Given the description of an element on the screen output the (x, y) to click on. 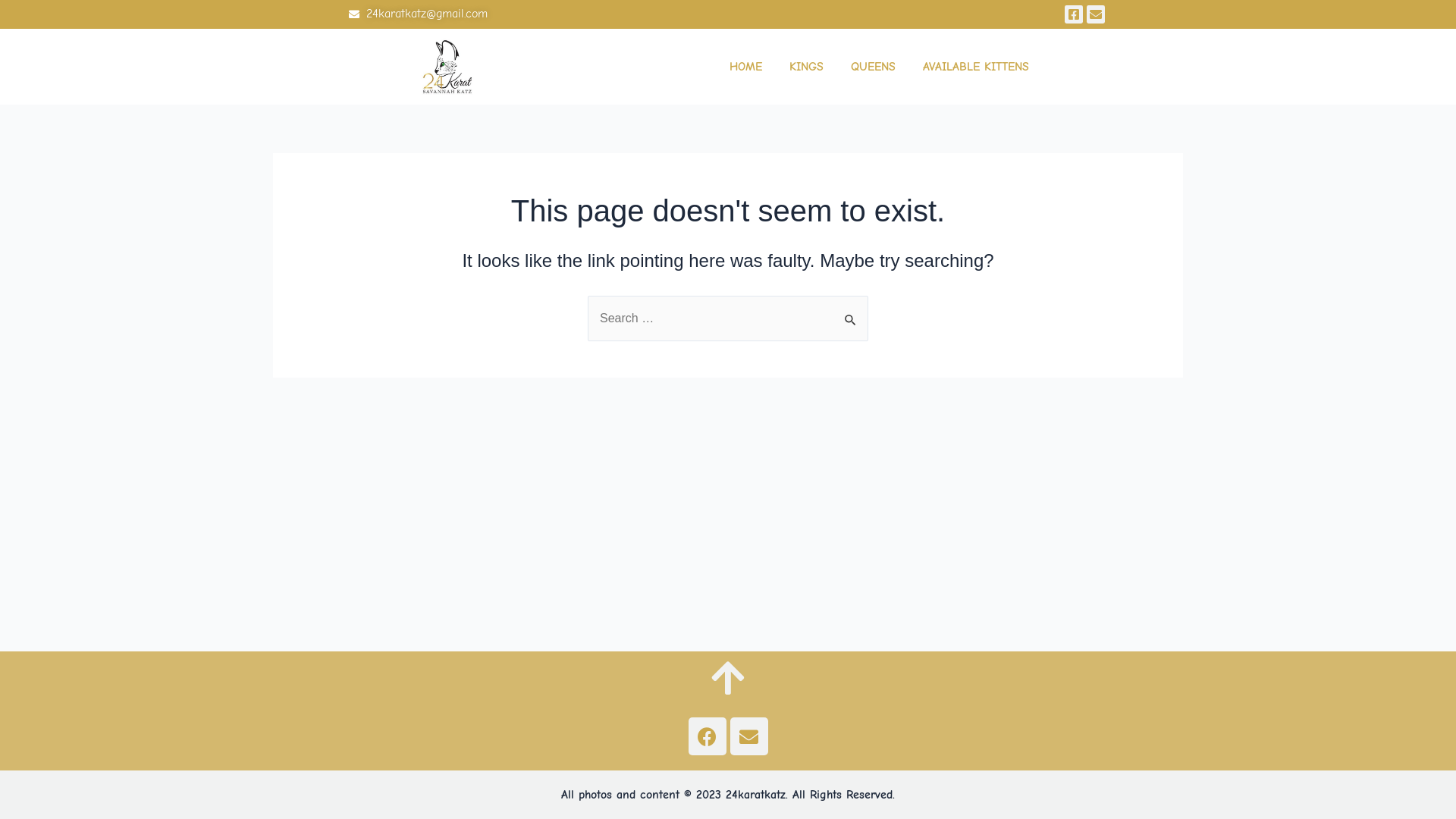
QUEENS Element type: text (873, 66)
24karatkatz@gmail.com Element type: text (536, 14)
KINGS Element type: text (806, 66)
HOME Element type: text (745, 66)
Search Element type: text (851, 311)
AVAILABLE KITTENS Element type: text (975, 66)
